Given the description of an element on the screen output the (x, y) to click on. 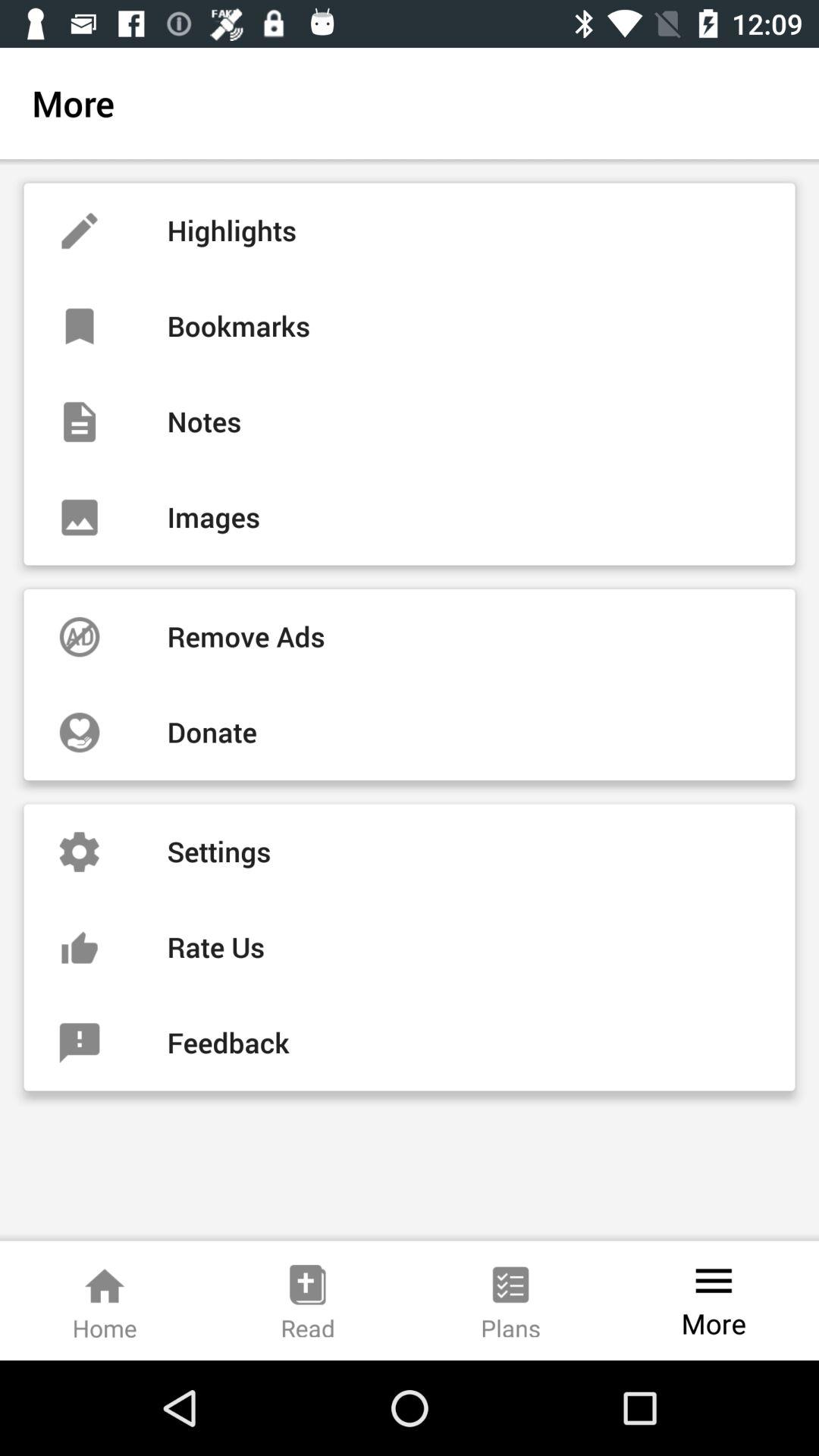
tap item above the rate us item (409, 851)
